Given the description of an element on the screen output the (x, y) to click on. 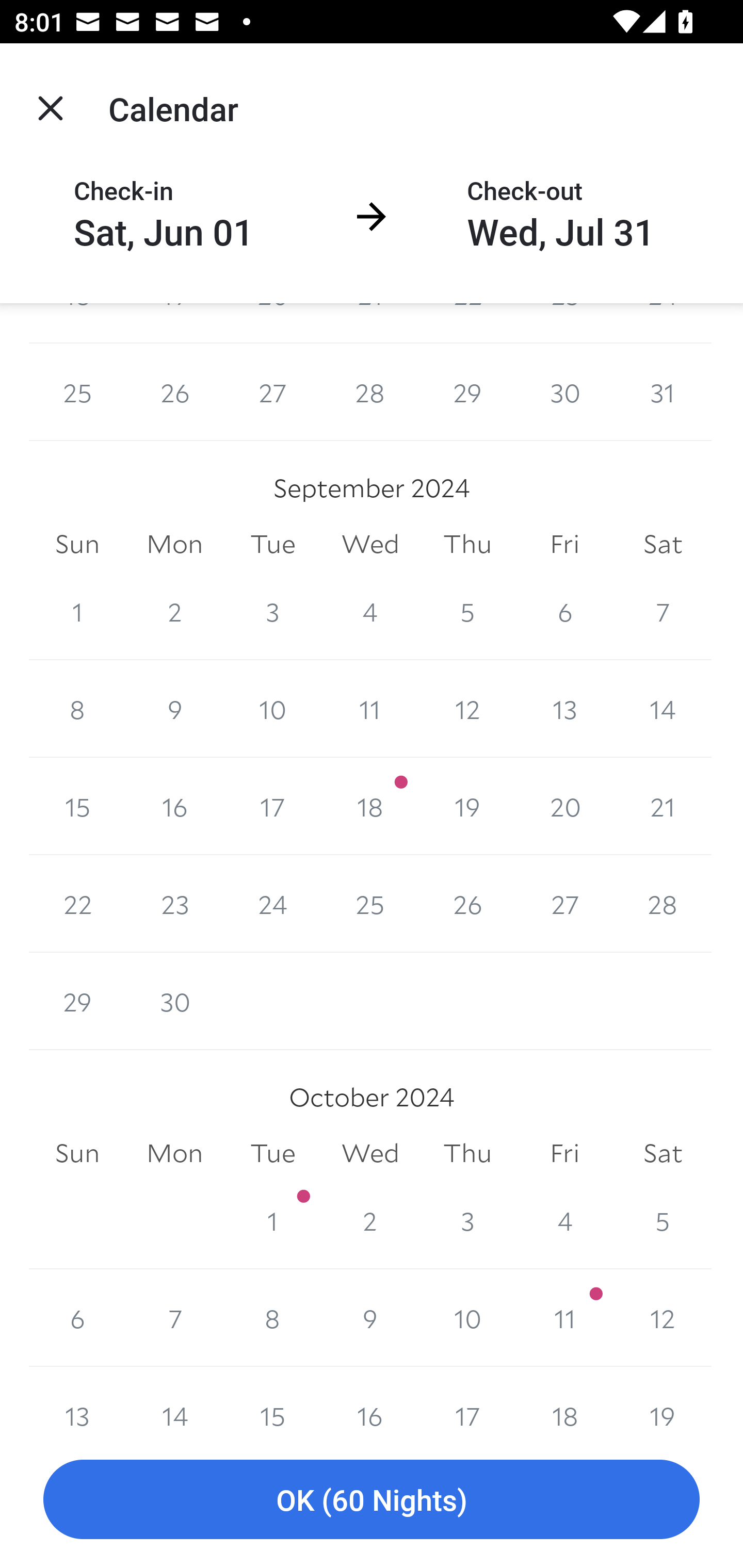
25 25 August 2024 (77, 391)
26 26 August 2024 (174, 391)
27 27 August 2024 (272, 391)
28 28 August 2024 (370, 391)
29 29 August 2024 (467, 391)
30 30 August 2024 (564, 391)
31 31 August 2024 (662, 391)
Sun (77, 543)
Mon (174, 543)
Tue (272, 543)
Wed (370, 543)
Thu (467, 543)
Fri (564, 543)
Sat (662, 543)
1 1 September 2024 (77, 611)
2 2 September 2024 (174, 611)
3 3 September 2024 (272, 611)
4 4 September 2024 (370, 611)
5 5 September 2024 (467, 611)
6 6 September 2024 (564, 611)
7 7 September 2024 (662, 611)
8 8 September 2024 (77, 708)
9 9 September 2024 (174, 708)
10 10 September 2024 (272, 708)
11 11 September 2024 (370, 708)
12 12 September 2024 (467, 708)
13 13 September 2024 (564, 708)
14 14 September 2024 (662, 708)
15 15 September 2024 (77, 805)
16 16 September 2024 (174, 805)
17 17 September 2024 (272, 805)
18 18 September 2024 (370, 805)
19 19 September 2024 (467, 805)
20 20 September 2024 (564, 805)
21 21 September 2024 (662, 805)
22 22 September 2024 (77, 903)
23 23 September 2024 (174, 903)
24 24 September 2024 (272, 903)
25 25 September 2024 (370, 903)
26 26 September 2024 (467, 903)
27 27 September 2024 (564, 903)
28 28 September 2024 (662, 903)
29 29 September 2024 (77, 1001)
30 30 September 2024 (174, 1001)
Sun (77, 1153)
Mon (174, 1153)
Tue (272, 1153)
Wed (370, 1153)
Thu (467, 1153)
